Given the description of an element on the screen output the (x, y) to click on. 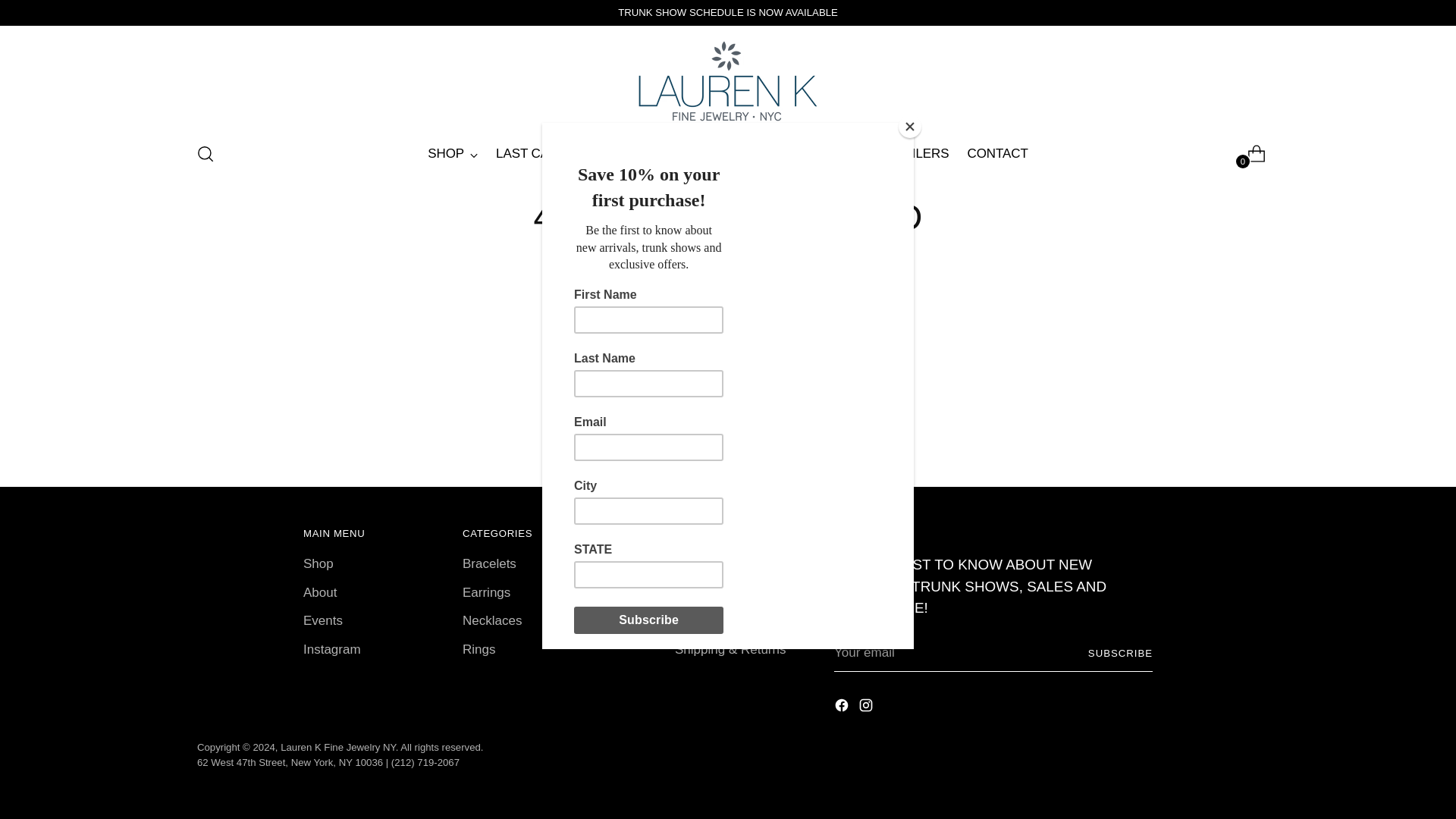
ABOUT (672, 153)
GEMSTONE GUIDE (771, 153)
0 (1249, 153)
SHOP (452, 153)
CONTACT (996, 153)
EVENTS (606, 153)
FOR RETAILERS (898, 153)
TRUNK SHOW SCHEDULE IS NOW AVAILABLE (727, 12)
LAST CALL (529, 153)
